Given the description of an element on the screen output the (x, y) to click on. 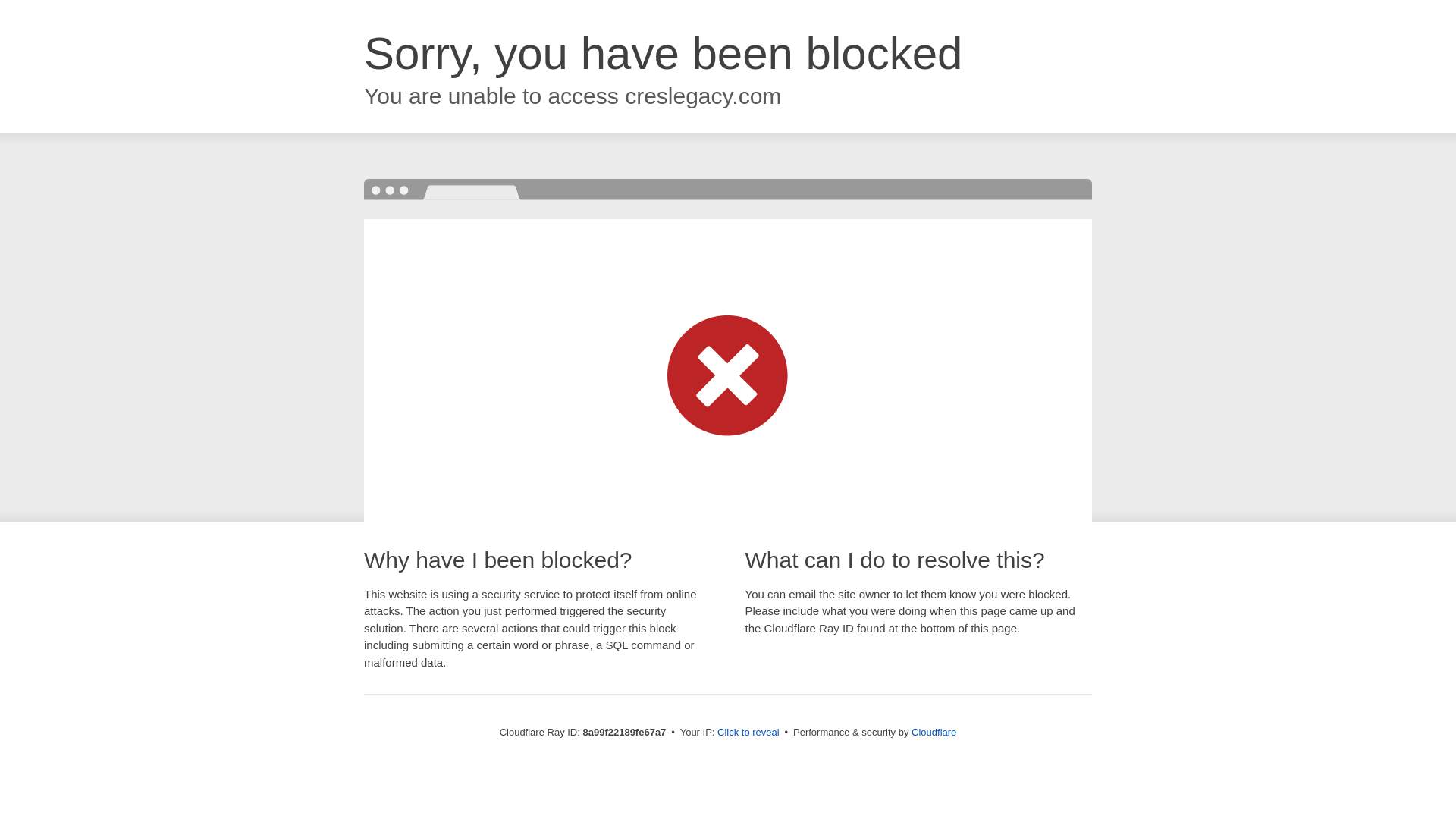
Cloudflare (933, 731)
Click to reveal (747, 732)
